Given the description of an element on the screen output the (x, y) to click on. 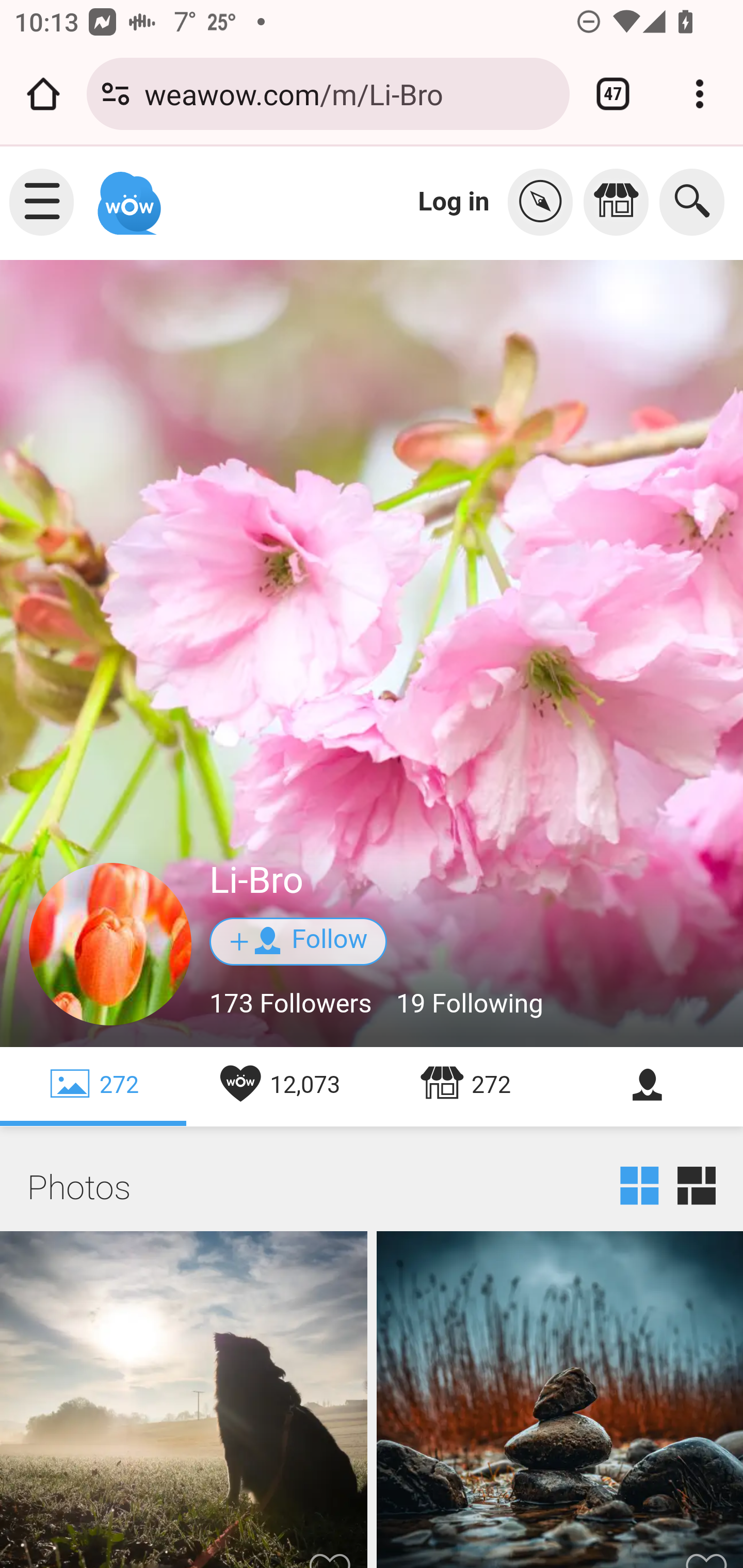
Open the home page (43, 93)
Connection is secure (115, 93)
Switch or close tabs (612, 93)
Customize and control Google Chrome (699, 93)
weawow.com/m/Li-Bro (349, 92)
Weawow (127, 194)
 (545, 201)
 (621, 201)
Log in (453, 201)
XwY4zH03iP70895 (110, 944)
Li-Bro (256, 881)
173 Followers 173  Followers (291, 1004)
19 Following 19  Following (469, 1004)
 272  272 (93, 1086)
 12,073  12,073 (278, 1086)
 272  272 (465, 1086)
 (649, 1086)
Weather forecasts with beautiful photos by Li-Bro (184, 1399)
Weather forecasts with beautiful photos by Li-Bro (559, 1399)
